Given the description of an element on the screen output the (x, y) to click on. 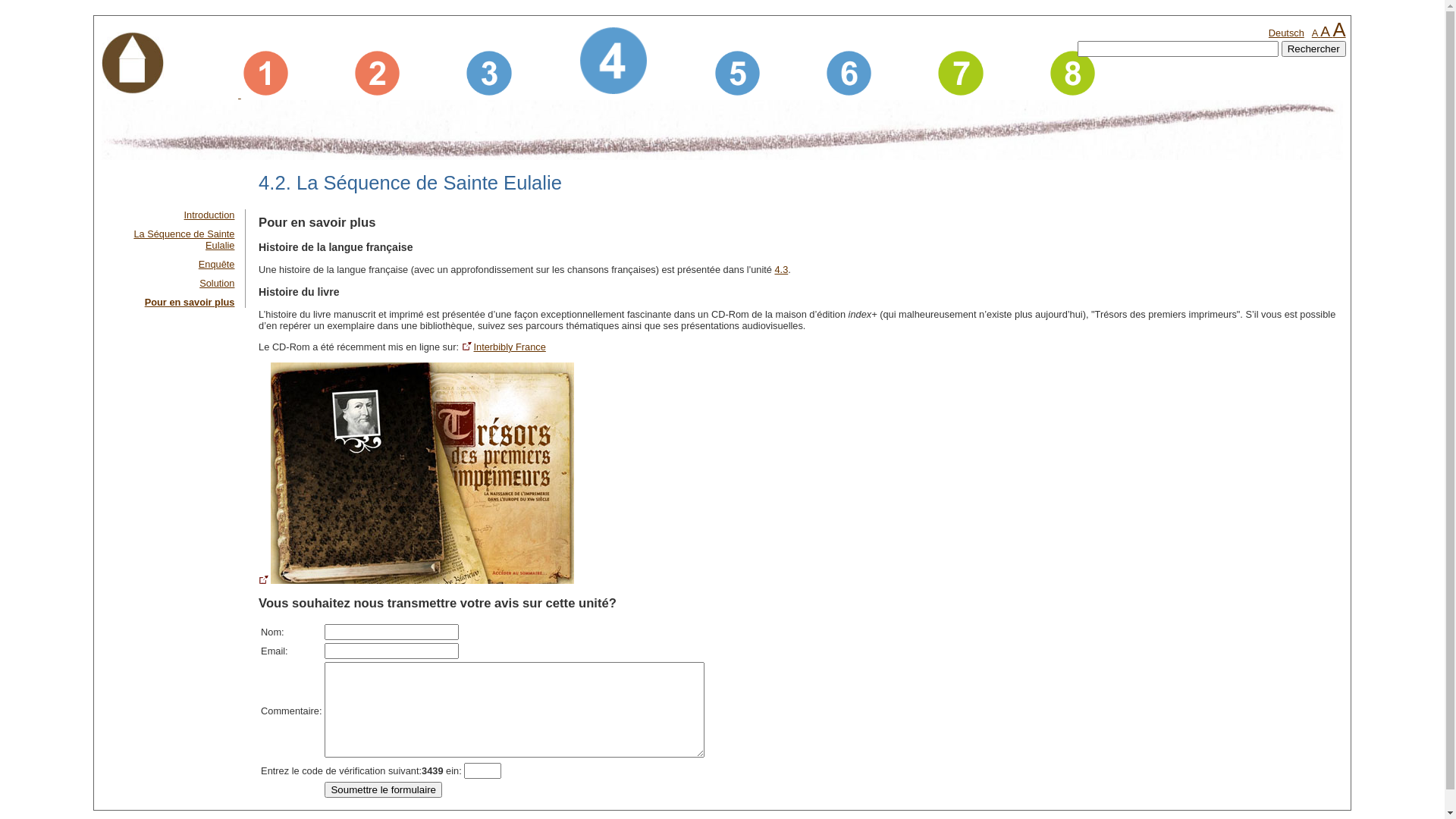
Deutsch Element type: text (1286, 32)
Soumettre le formulaire Element type: text (383, 789)
A A A Element type: text (1328, 32)
A Element type: text (1314, 32)
Pour en savoir plus Element type: text (189, 301)
4.3 Element type: text (780, 269)
Introduction Element type: text (209, 214)
A Element type: text (1339, 29)
Interbibly France Element type: text (503, 346)
A Element type: text (1325, 31)
Solution Element type: text (216, 282)
Home Element type: hover (132, 64)
Rechercher Element type: text (1313, 48)
